Given the description of an element on the screen output the (x, y) to click on. 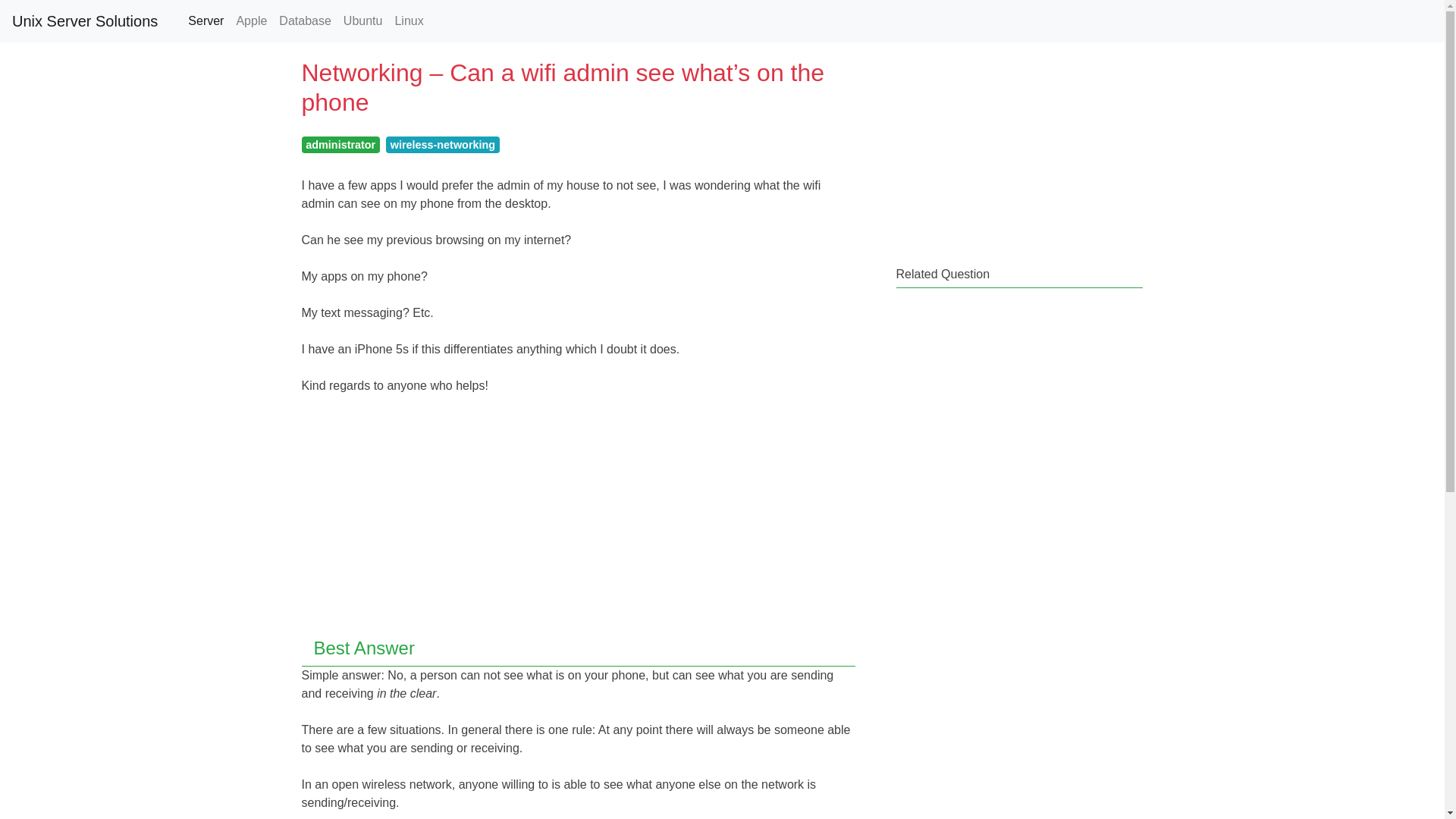
Apple (251, 20)
Apple (251, 20)
Unix Server Solutions (84, 20)
Server (206, 20)
Advertisement (1009, 148)
Advertisement (578, 519)
Server (206, 20)
Linux (408, 20)
Ubuntu (362, 20)
Ubuntu (362, 20)
Linux (408, 20)
Database (305, 20)
Advertisement (1009, 394)
Database (305, 20)
